Given the description of an element on the screen output the (x, y) to click on. 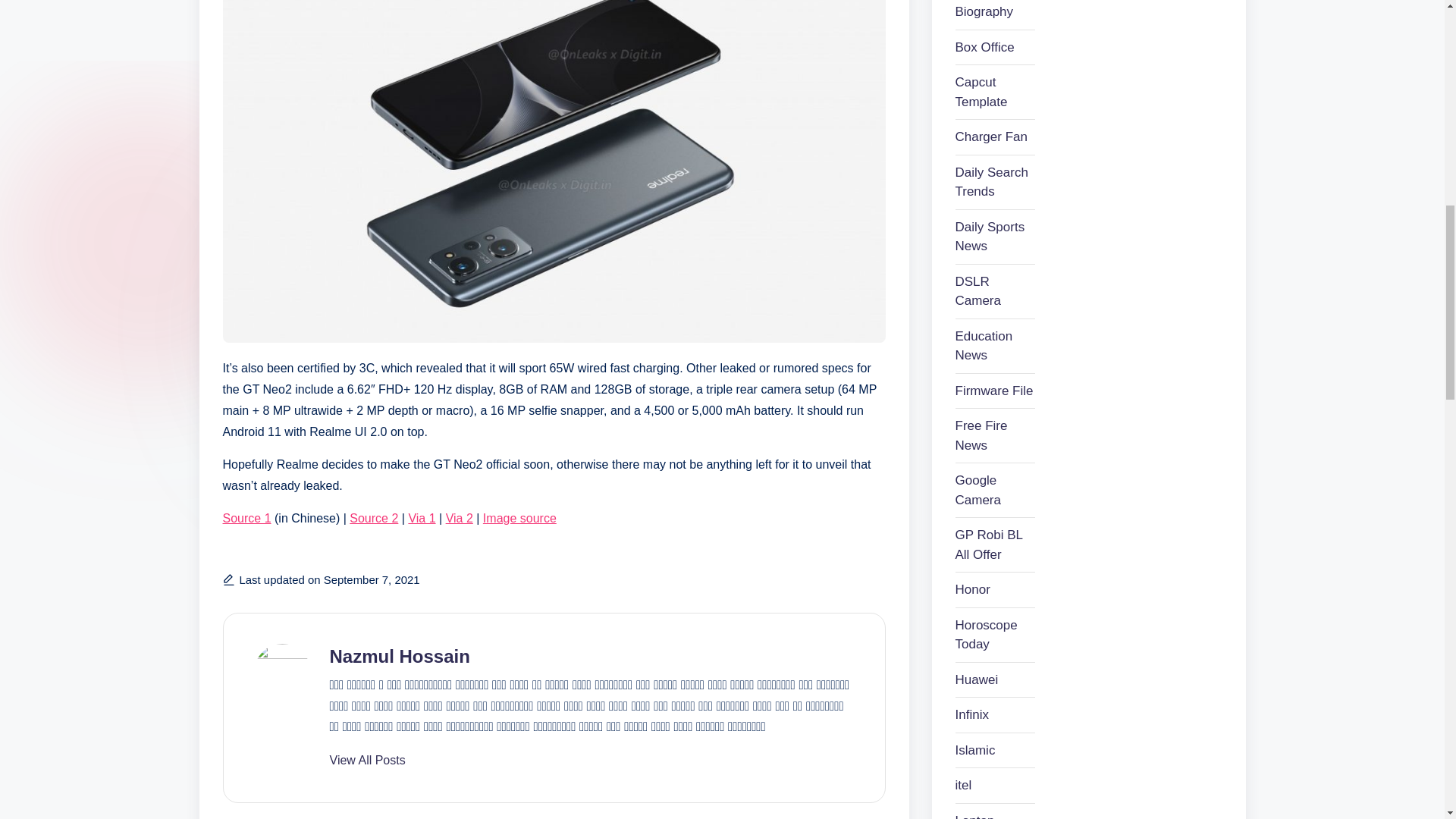
Nazmul Hossain (398, 656)
Via 2 (459, 517)
Via 1 (421, 517)
Source 1 (246, 517)
Source 2 (373, 517)
Image source (519, 517)
View All Posts (366, 760)
